Given the description of an element on the screen output the (x, y) to click on. 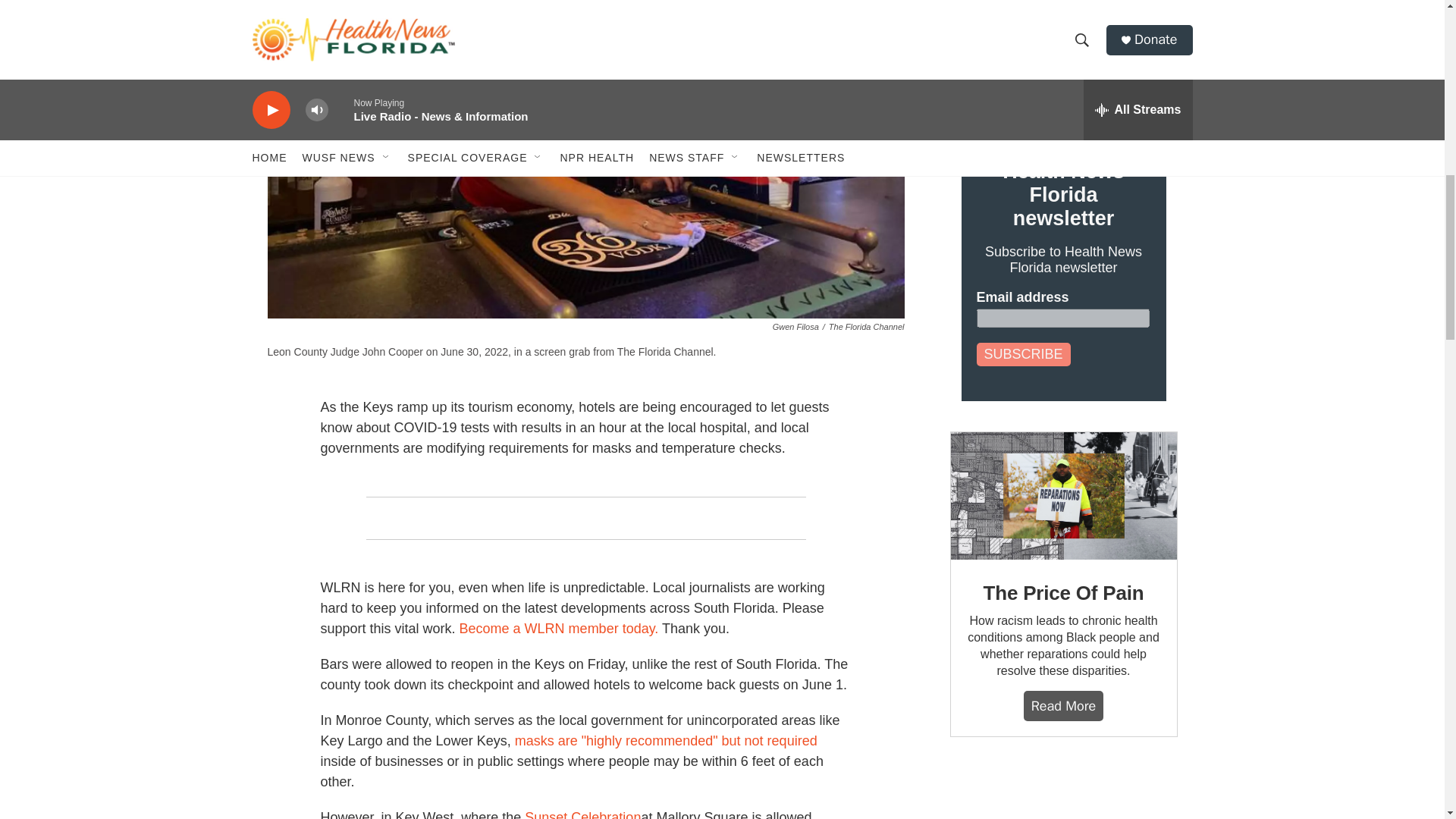
3rd party ad content (1062, 793)
